Given the description of an element on the screen output the (x, y) to click on. 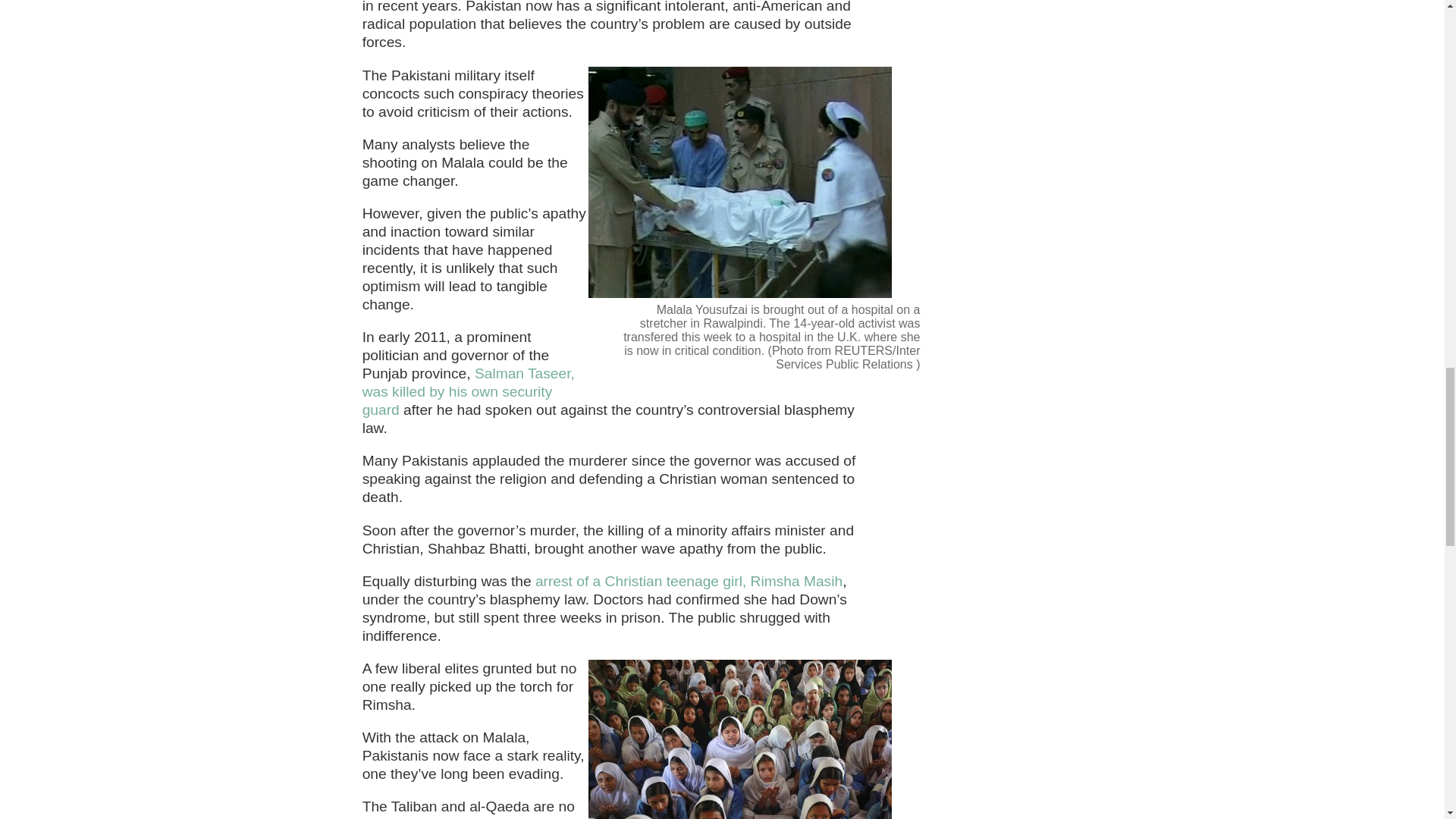
Salman Taseer, was killed by his own security guard (468, 391)
arrest of a Christian teenage girl, Rimsha Masih (689, 580)
